Given the description of an element on the screen output the (x, y) to click on. 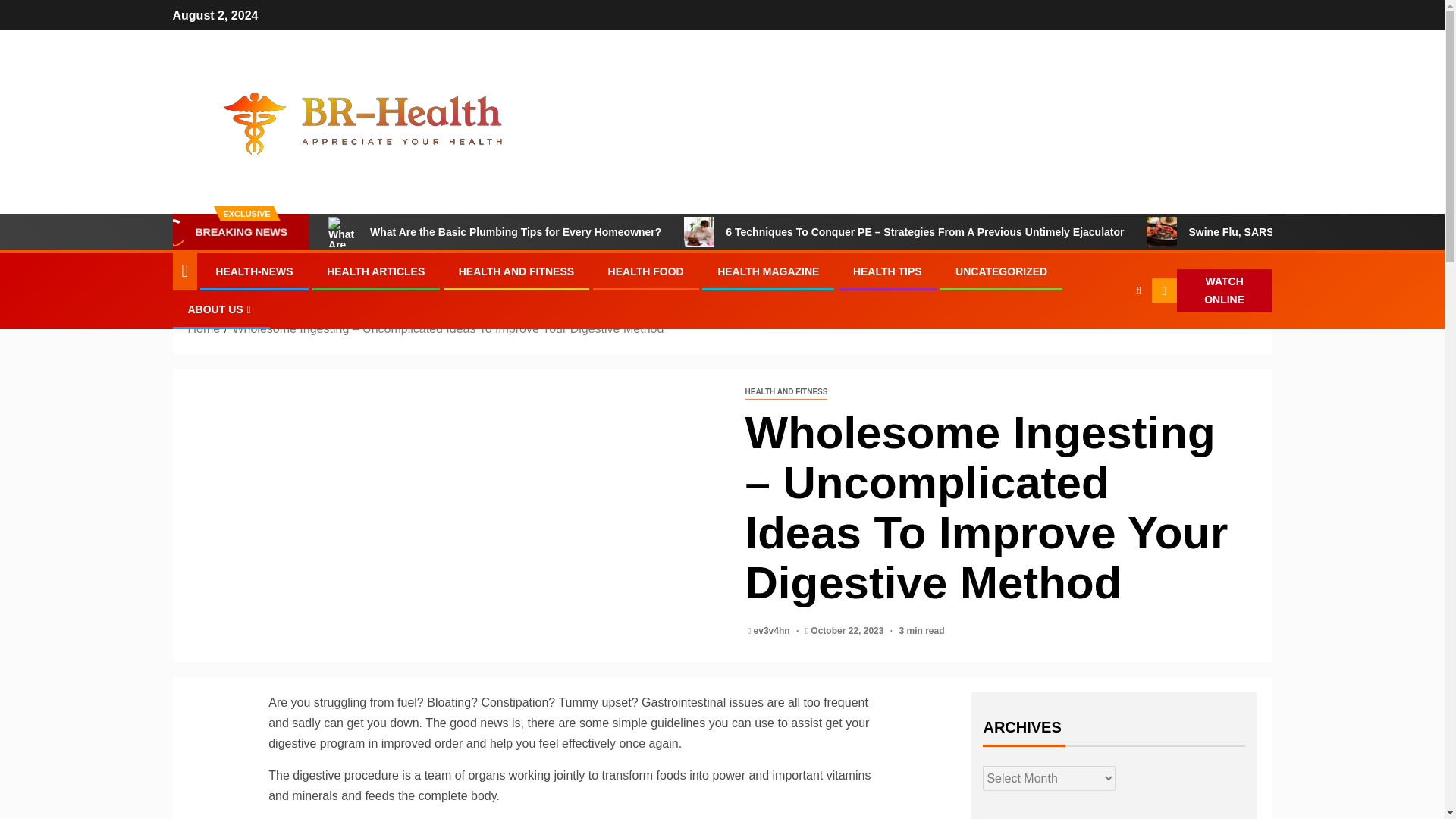
HEALTH AND FITNESS (785, 392)
UNCATEGORIZED (1000, 271)
HEALTH MAGAZINE (767, 271)
HEALTH-NEWS (253, 271)
WATCH ONLINE (1211, 290)
Search (1109, 337)
Swine Flu, SARS, and Kimchi (1241, 232)
ev3v4hn (773, 630)
HEALTH TIPS (887, 271)
HEALTH FOOD (646, 271)
Swine Flu, SARS, and Kimchi (1161, 232)
Home (204, 328)
HEALTH AND FITNESS (515, 271)
HEALTH ARTICLES (375, 271)
What Are the Basic Plumbing Tips for Every Homeowner? (494, 232)
